Given the description of an element on the screen output the (x, y) to click on. 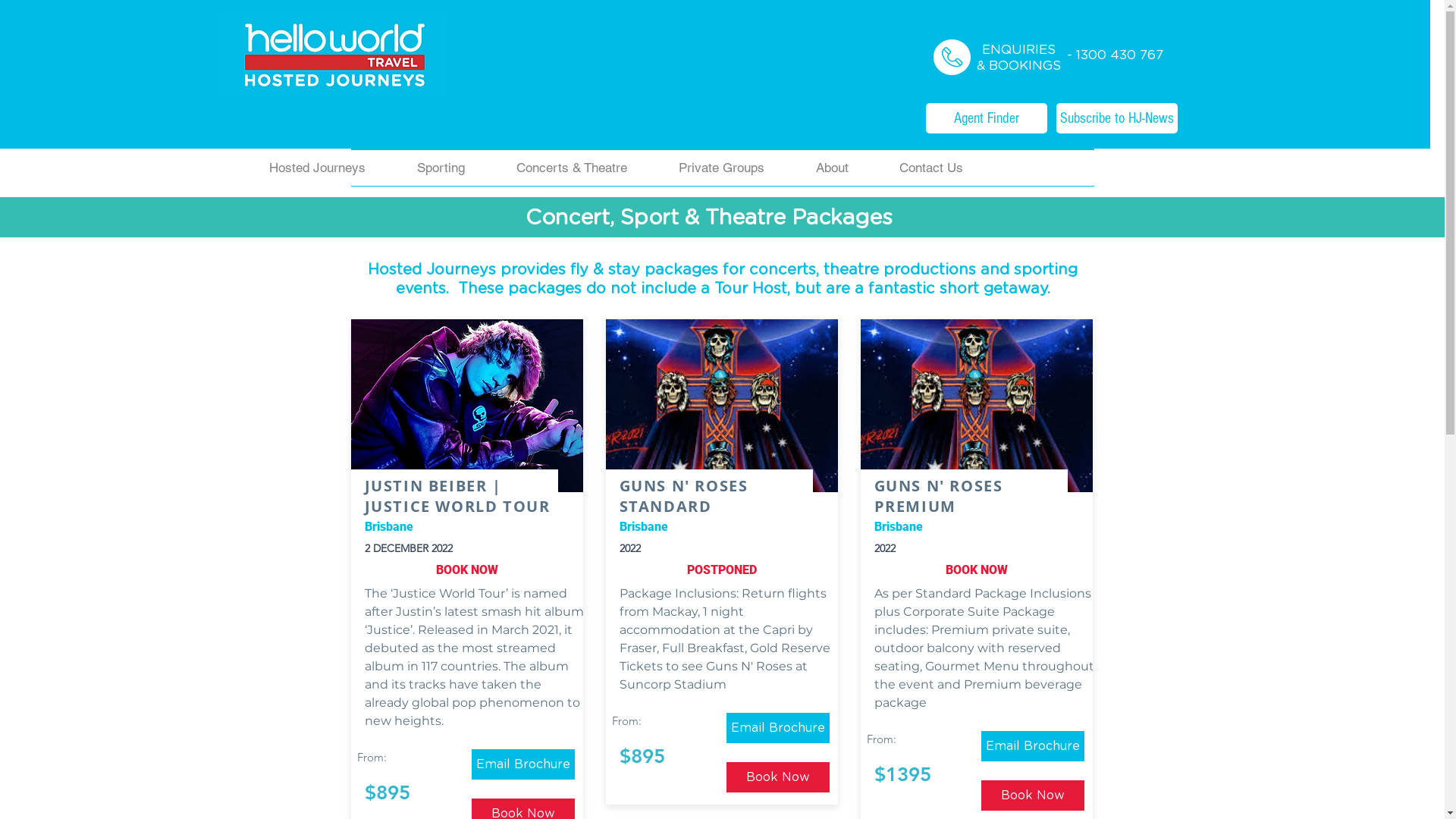
Contact Us Element type: text (930, 167)
download.jpg Element type: hover (976, 405)
Email Brochure Element type: text (522, 764)
Private Groups Element type: text (720, 167)
About Element type: text (831, 167)
download.jpg Element type: hover (721, 405)
Justin Beiber Image.PNG Element type: hover (466, 405)
Hosted Journeys Element type: text (317, 167)
Email Brochure Element type: text (777, 727)
Contact Us Element type: text (713, 334)
Email Brochure Element type: text (1032, 746)
Agent Finder Element type: text (985, 118)
Book Now Element type: text (1032, 795)
Sporting Element type: text (440, 167)
Book Now Element type: text (777, 777)
Subscribe to HJ-News Element type: text (1115, 118)
Concerts & Theatre Element type: text (570, 167)
